Given the description of an element on the screen output the (x, y) to click on. 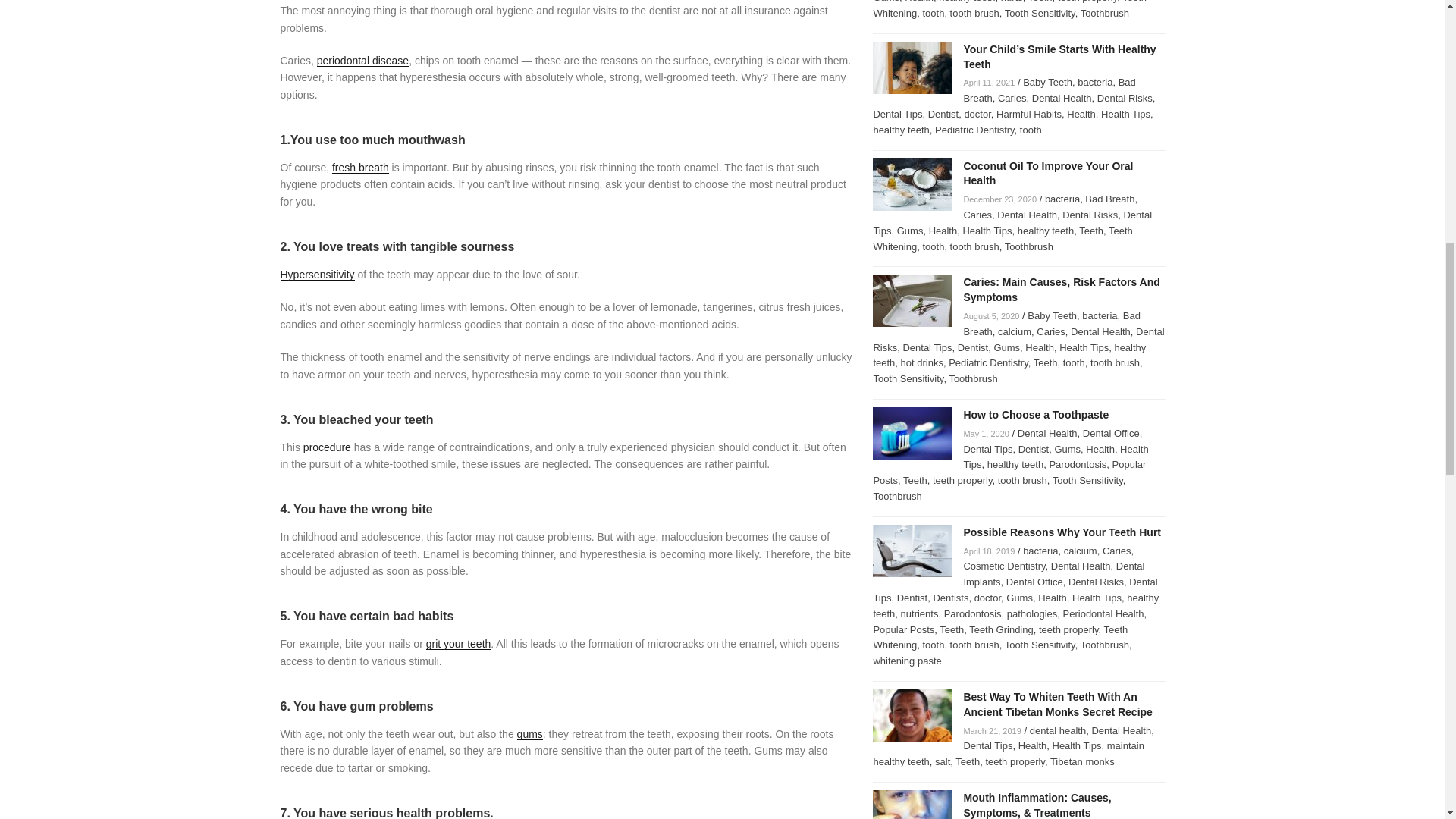
fresh breath (359, 167)
procedure (326, 447)
gums (529, 734)
grit your teeth (459, 644)
periodontal disease (363, 60)
Hypersensitivity (318, 274)
